Given the description of an element on the screen output the (x, y) to click on. 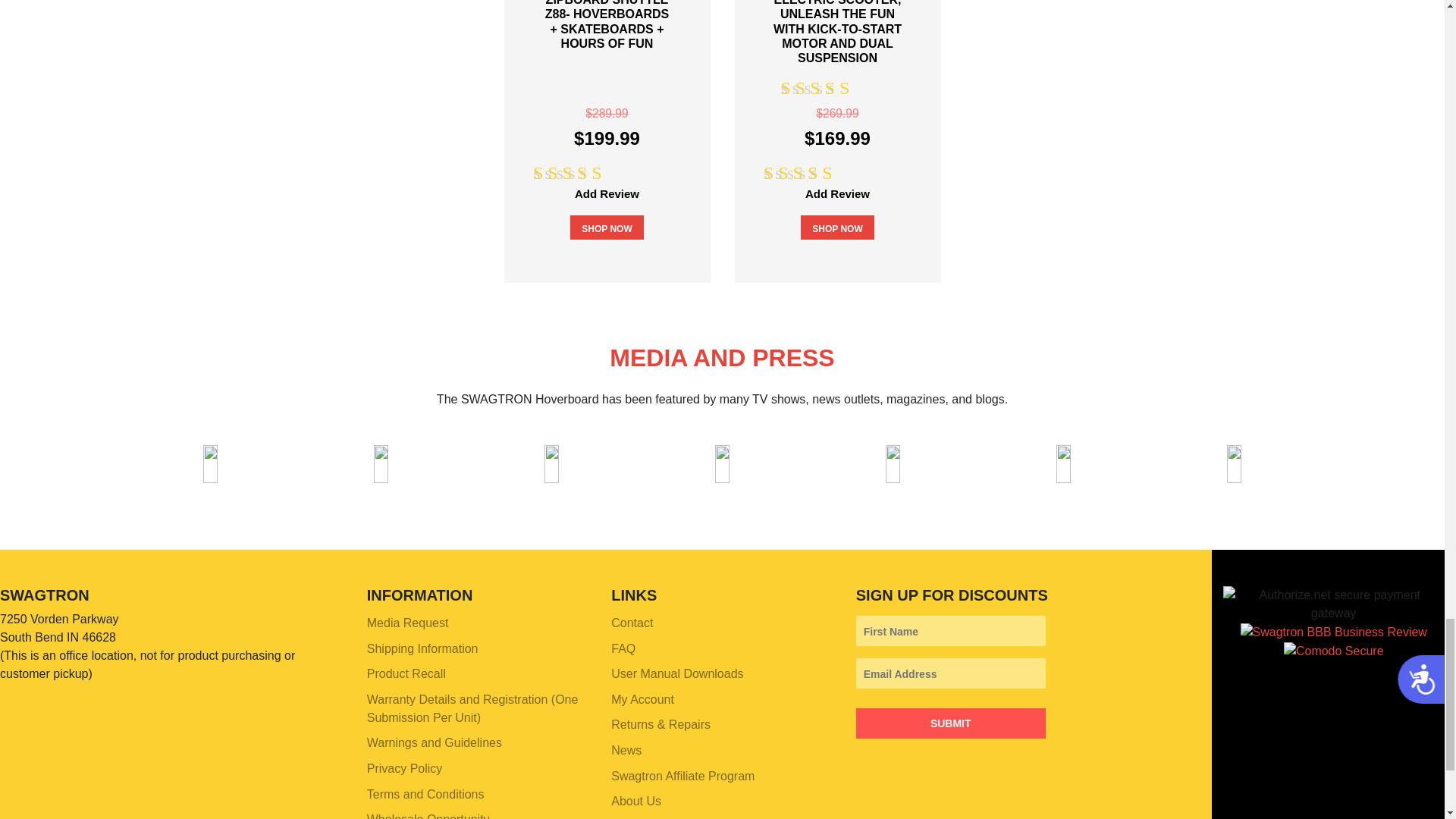
Rated 4.6788247213779 out of 5 (819, 172)
Media Request (477, 623)
Warnings and Guidelines (477, 743)
Rated 4.6788247213779 out of 5 (589, 172)
Product Recall (477, 673)
Privacy Policy (477, 768)
Submit (950, 723)
Shipping Information (477, 648)
